Given the description of an element on the screen output the (x, y) to click on. 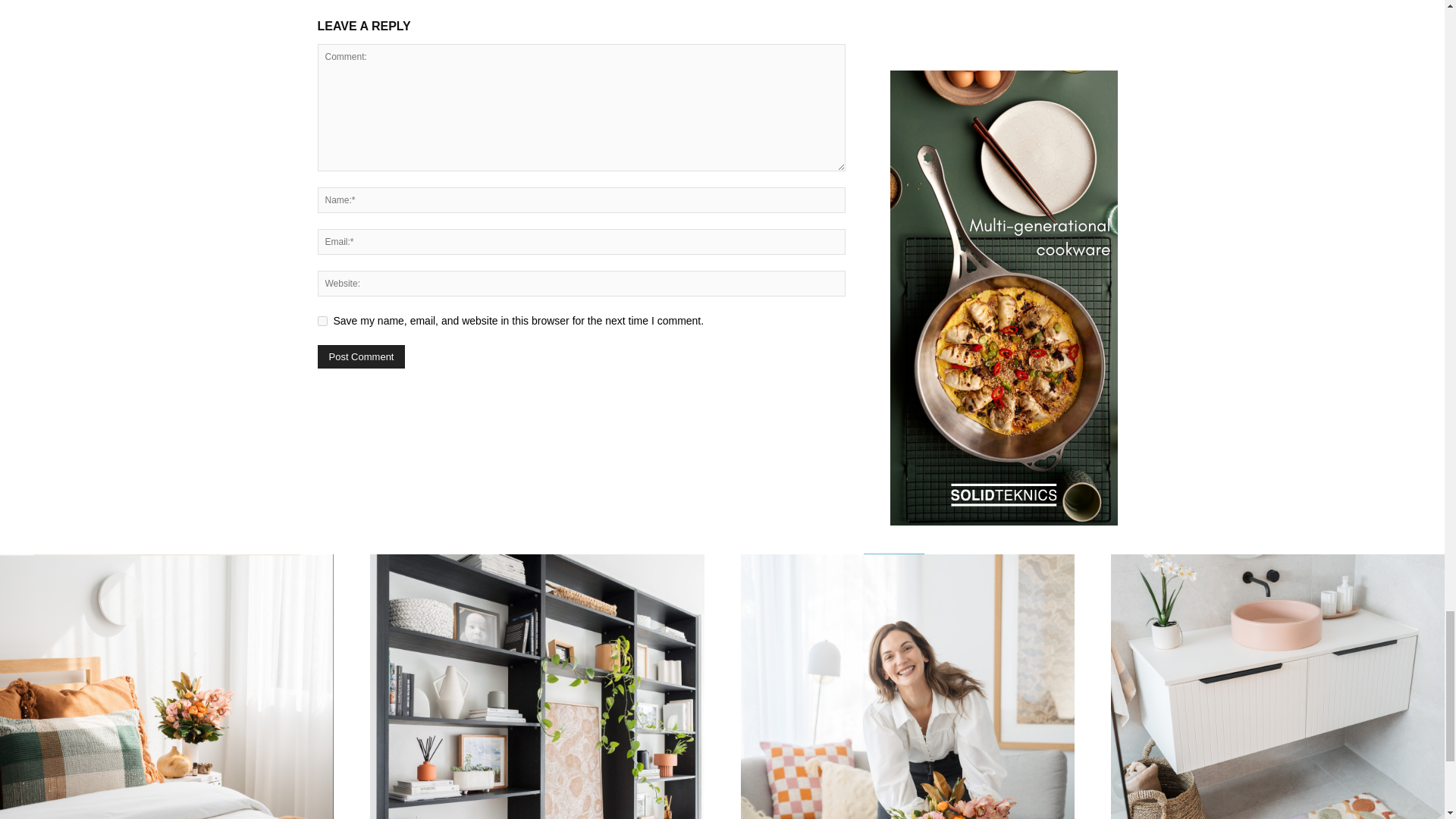
yes (321, 320)
Post Comment (360, 356)
